Given the description of an element on the screen output the (x, y) to click on. 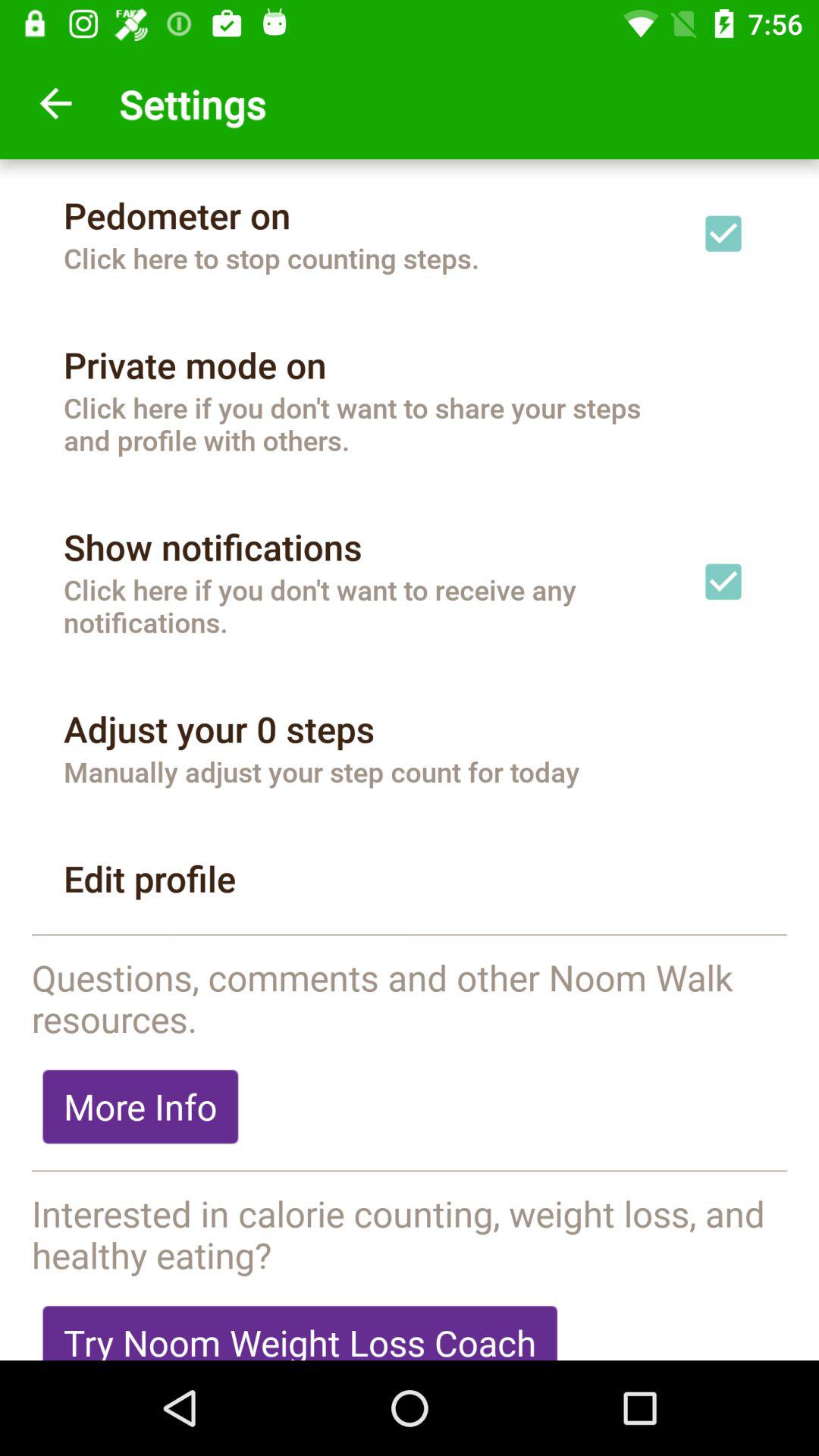
flip until interested in calorie (409, 1234)
